Given the description of an element on the screen output the (x, y) to click on. 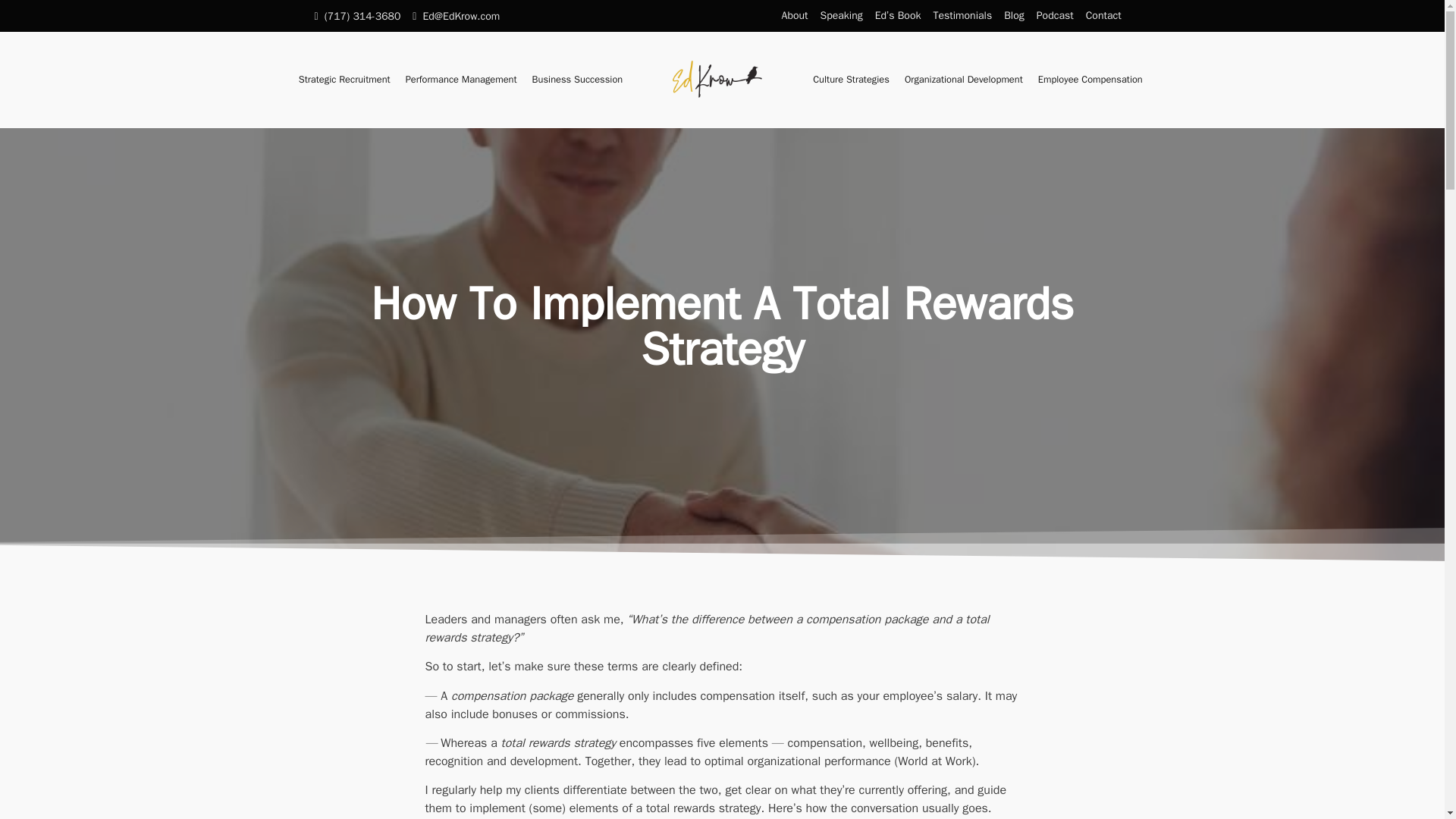
Contact (1103, 15)
Speaking (841, 15)
Business Succession (577, 79)
Strategic Recruitment (344, 79)
Performance Management (460, 79)
Organizational Development (963, 79)
Podcast (1055, 15)
Testimonials (961, 15)
About (794, 15)
Blog (1013, 15)
Culture Strategies (850, 79)
Employee Compensation (1090, 79)
